Given the description of an element on the screen output the (x, y) to click on. 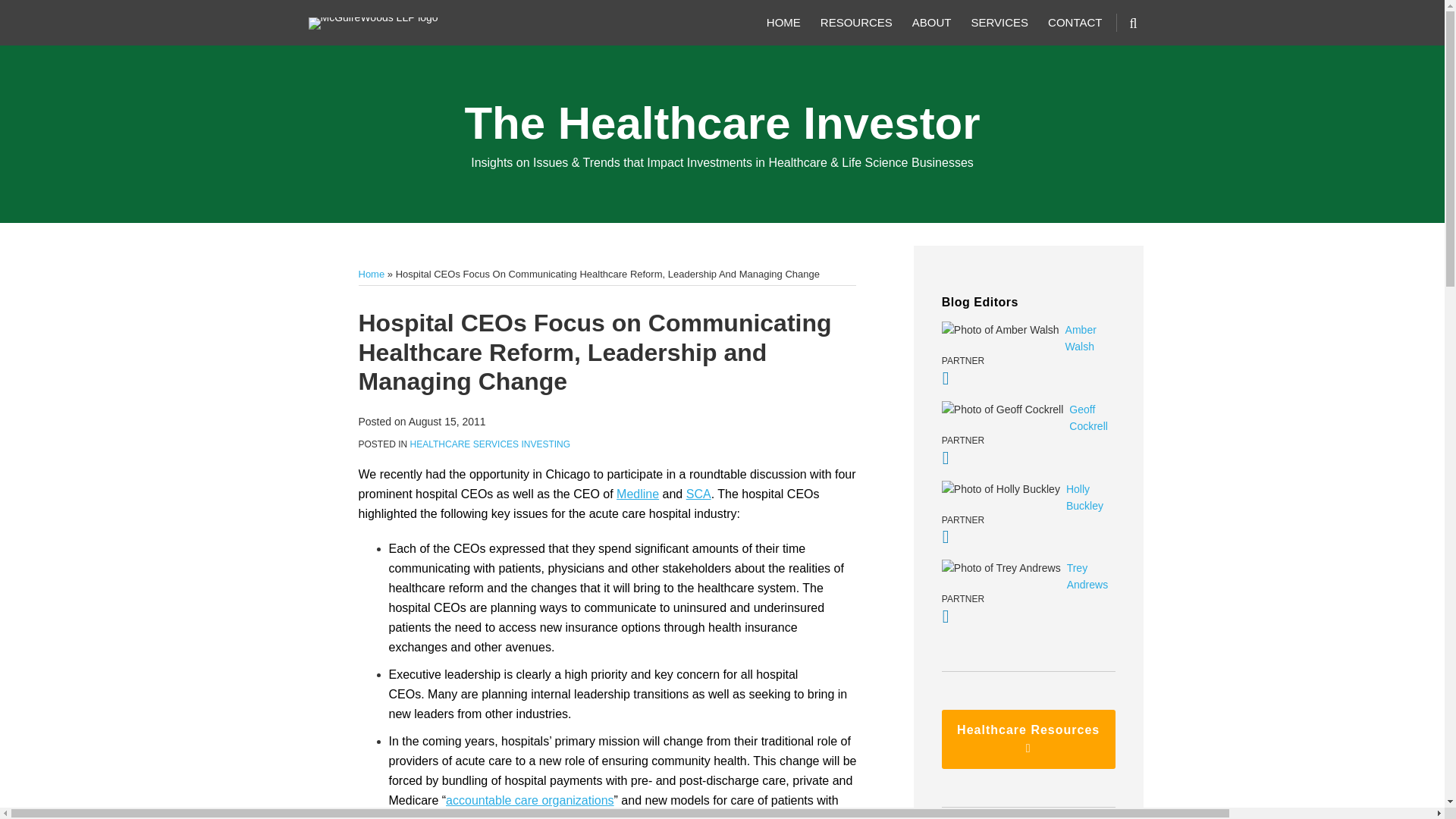
CONTACT (1075, 22)
The Healthcare Investor (721, 122)
Home (371, 274)
Geoff Cockrell (1028, 417)
HEALTHCARE SERVICES INVESTING (490, 443)
HOME (783, 22)
Amber Walsh (1028, 337)
accountable care organizations (528, 799)
ABOUT (932, 22)
SERVICES (1000, 22)
SCA (698, 493)
Medline (637, 493)
RESOURCES (856, 22)
